Given the description of an element on the screen output the (x, y) to click on. 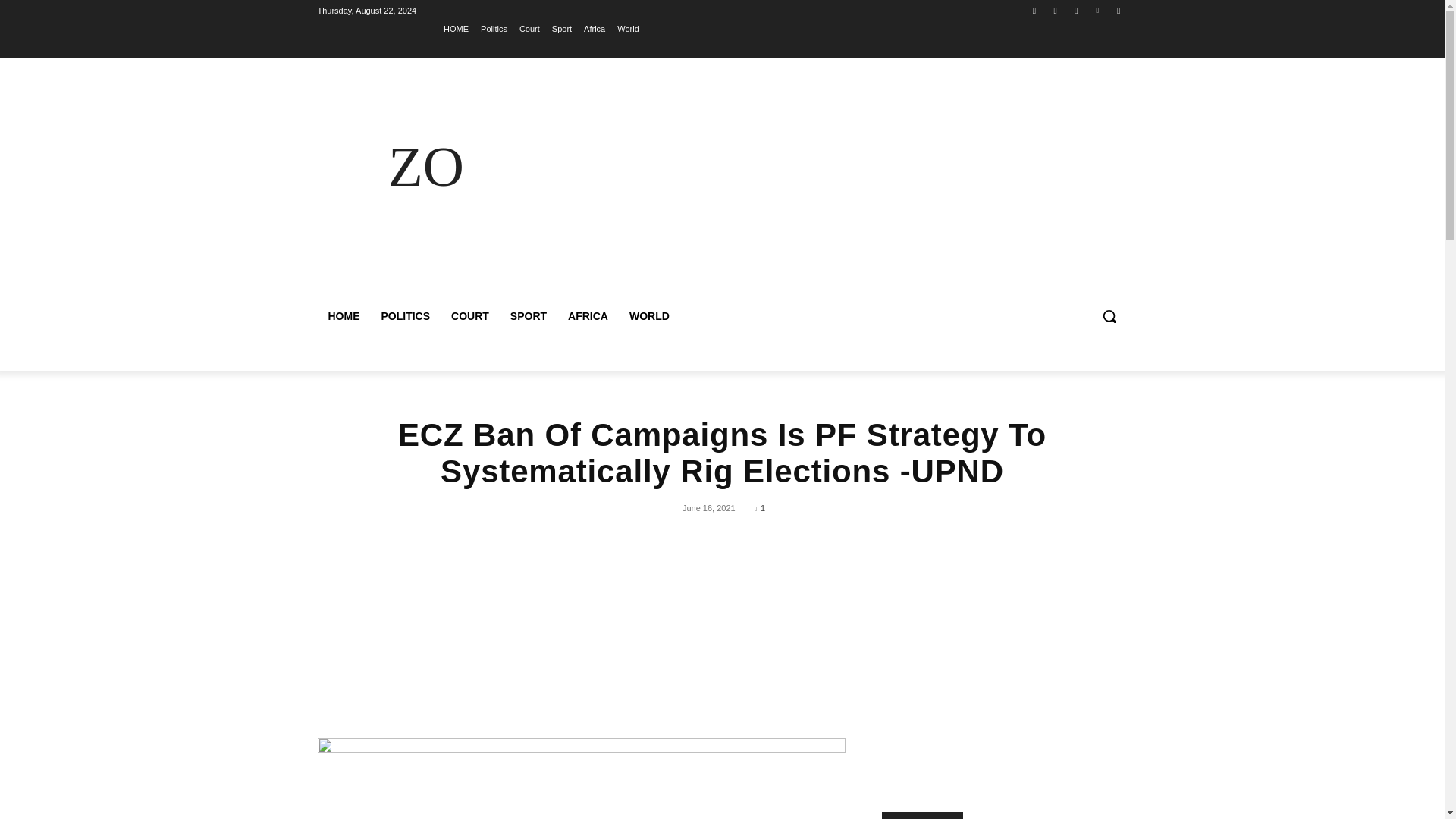
Politics (493, 28)
Youtube (1117, 9)
Advertisement (854, 184)
COURT (470, 316)
POLITICS (405, 316)
ZO (425, 167)
Instagram (1055, 9)
1 (759, 507)
Sport (561, 28)
HOME (456, 28)
